Given the description of an element on the screen output the (x, y) to click on. 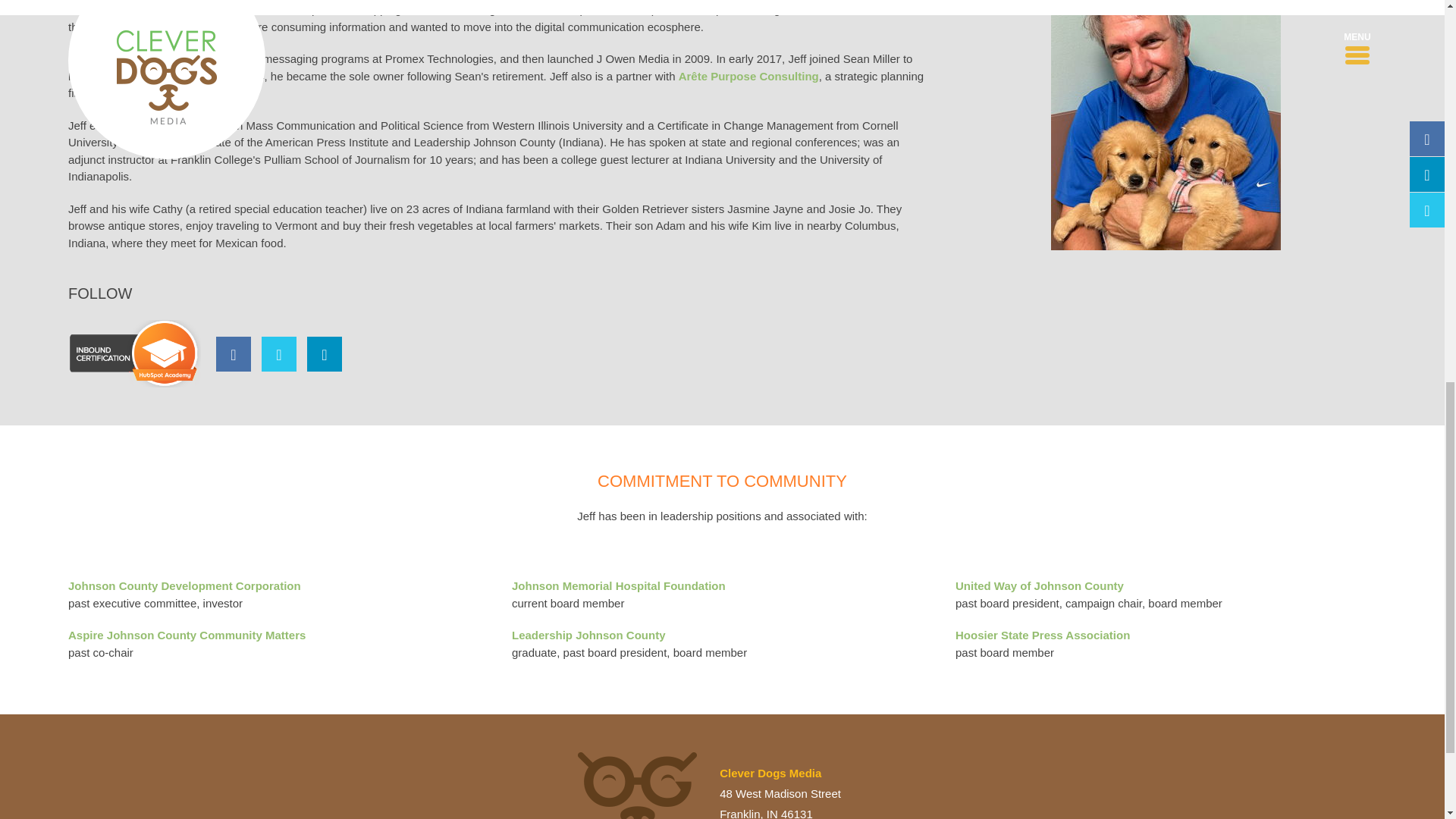
United Way of Johnson County (1039, 585)
Jeff Owen (1166, 125)
Johnson Memorial Hospital Foundation (618, 585)
Aspire Johnson County Community Matters (186, 634)
Clever Dogs Media (637, 785)
Hubspot Inbound Certification (134, 353)
Hoosier State Press Association (1042, 634)
Leadership Johnson County (588, 634)
Johnson County Development Corporation (184, 585)
